Given the description of an element on the screen output the (x, y) to click on. 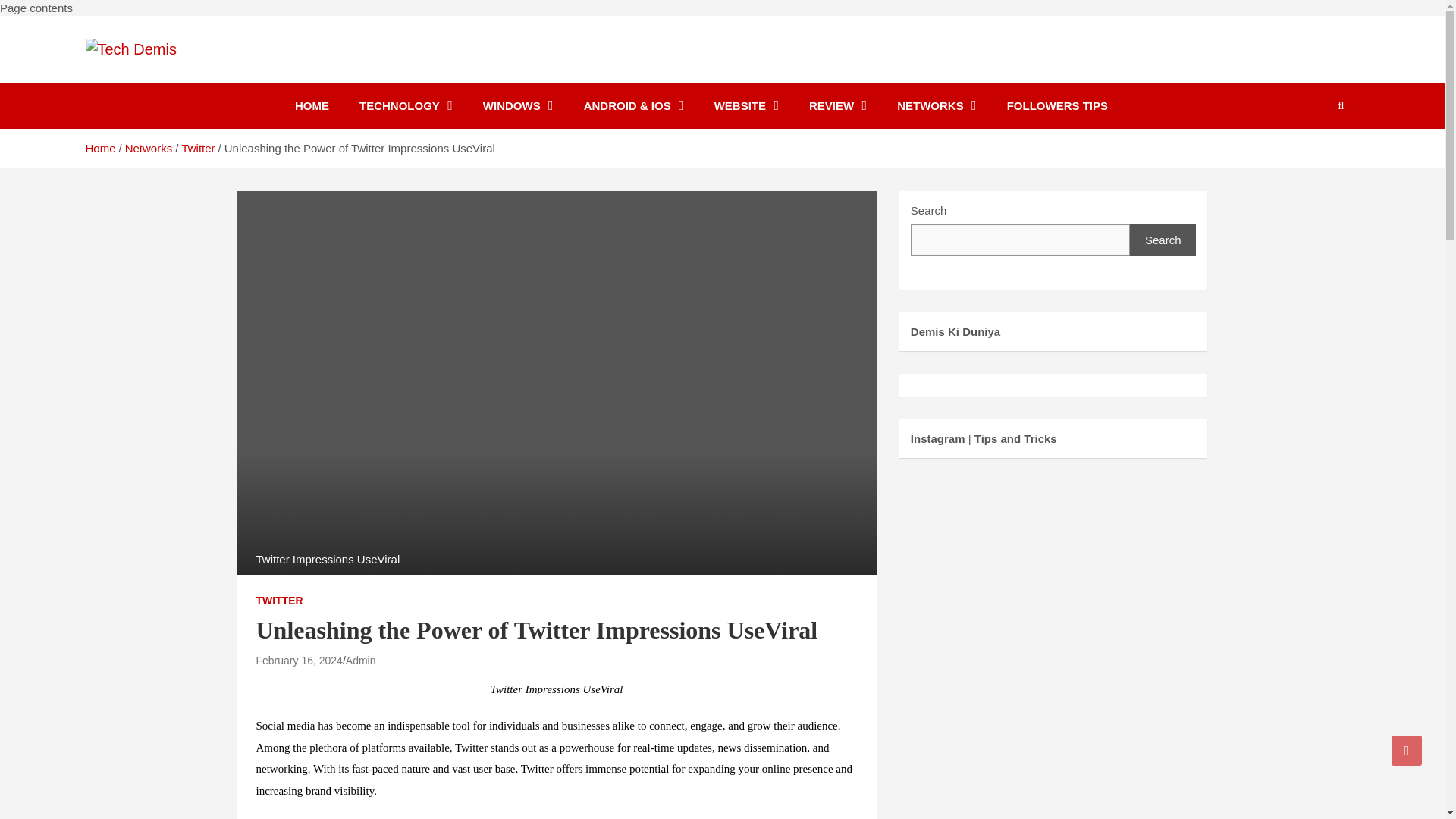
NETWORKS (936, 105)
Go to Top (1406, 750)
WEBSITE (745, 105)
HOME (311, 105)
Tech Demis (159, 79)
TECHNOLOGY (405, 105)
WINDOWS (518, 105)
Unleashing the Power of Twitter Impressions UseViral (299, 660)
REVIEW (837, 105)
